Given the description of an element on the screen output the (x, y) to click on. 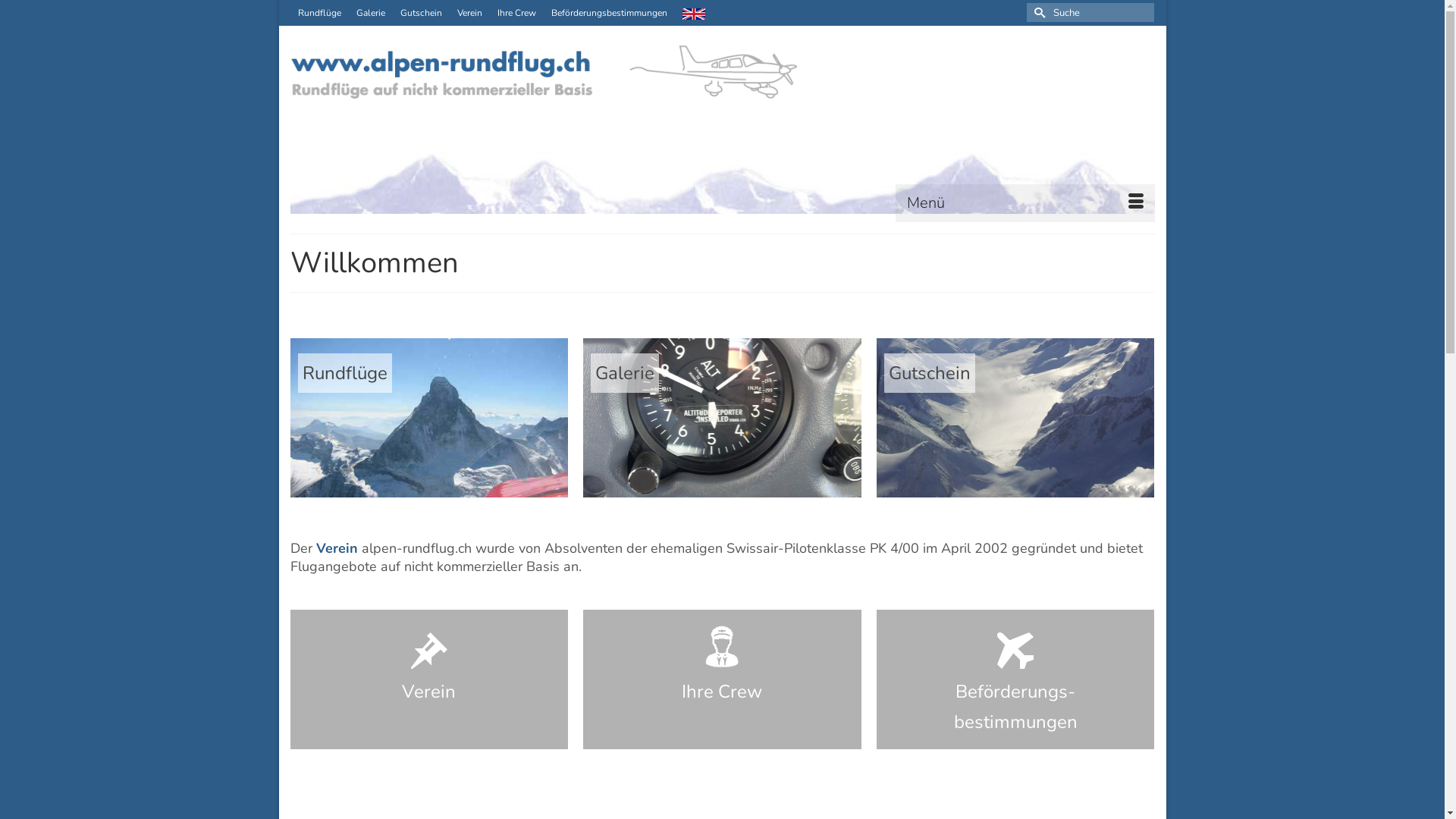
alpen-rundflug.ch Element type: hover (721, 128)
Verein Element type: text (468, 12)
Gutschein Element type: text (1015, 417)
Galerie Element type: text (370, 12)
Gutschein Element type: text (420, 12)
Verein Element type: text (428, 679)
Ihre Crew Element type: text (722, 679)
Verein Element type: text (336, 548)
Ihre Crew Element type: text (516, 12)
Galerie Element type: text (722, 417)
